Given the description of an element on the screen output the (x, y) to click on. 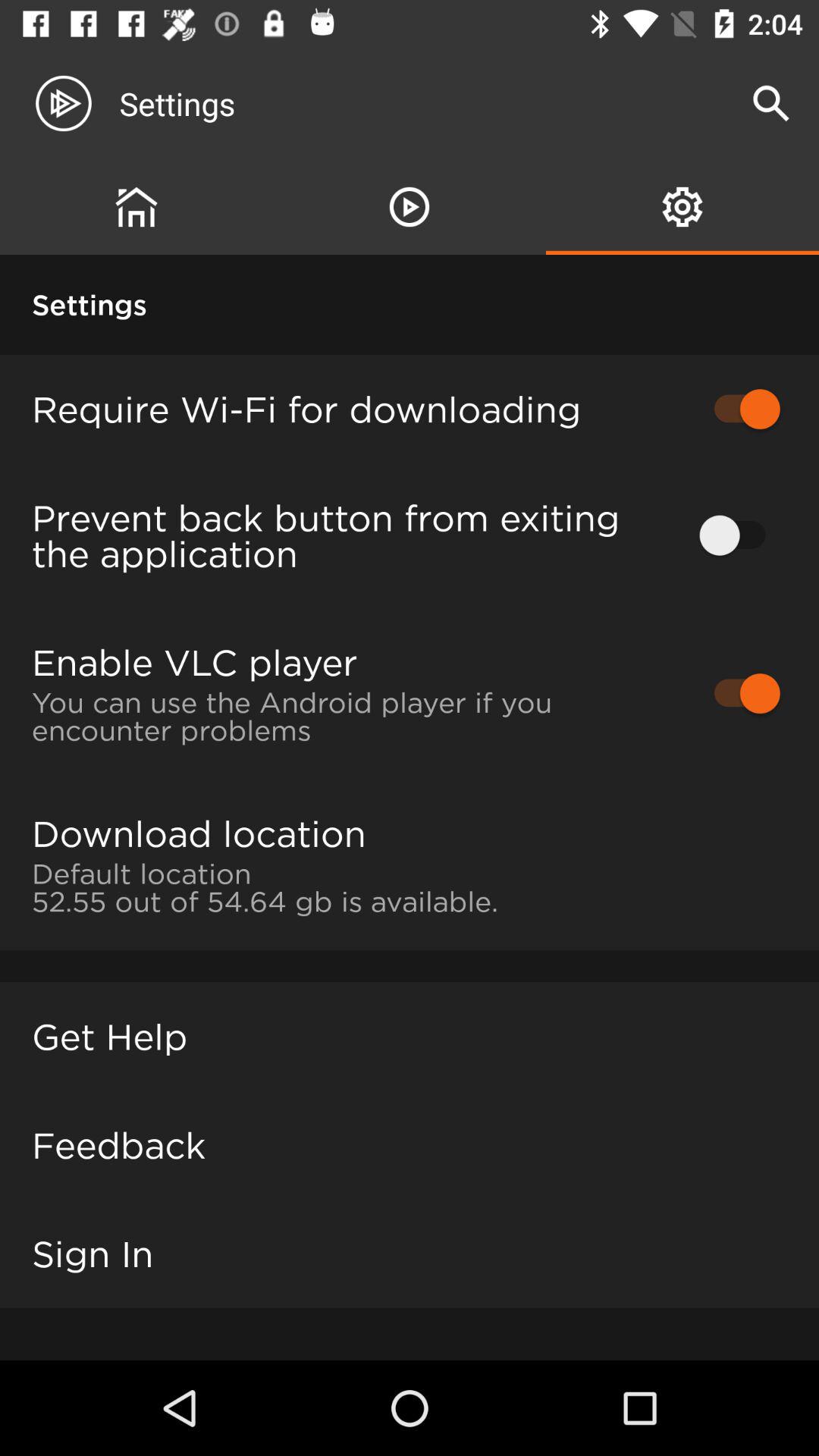
launch item to the right of the prevent back button item (739, 535)
